Given the description of an element on the screen output the (x, y) to click on. 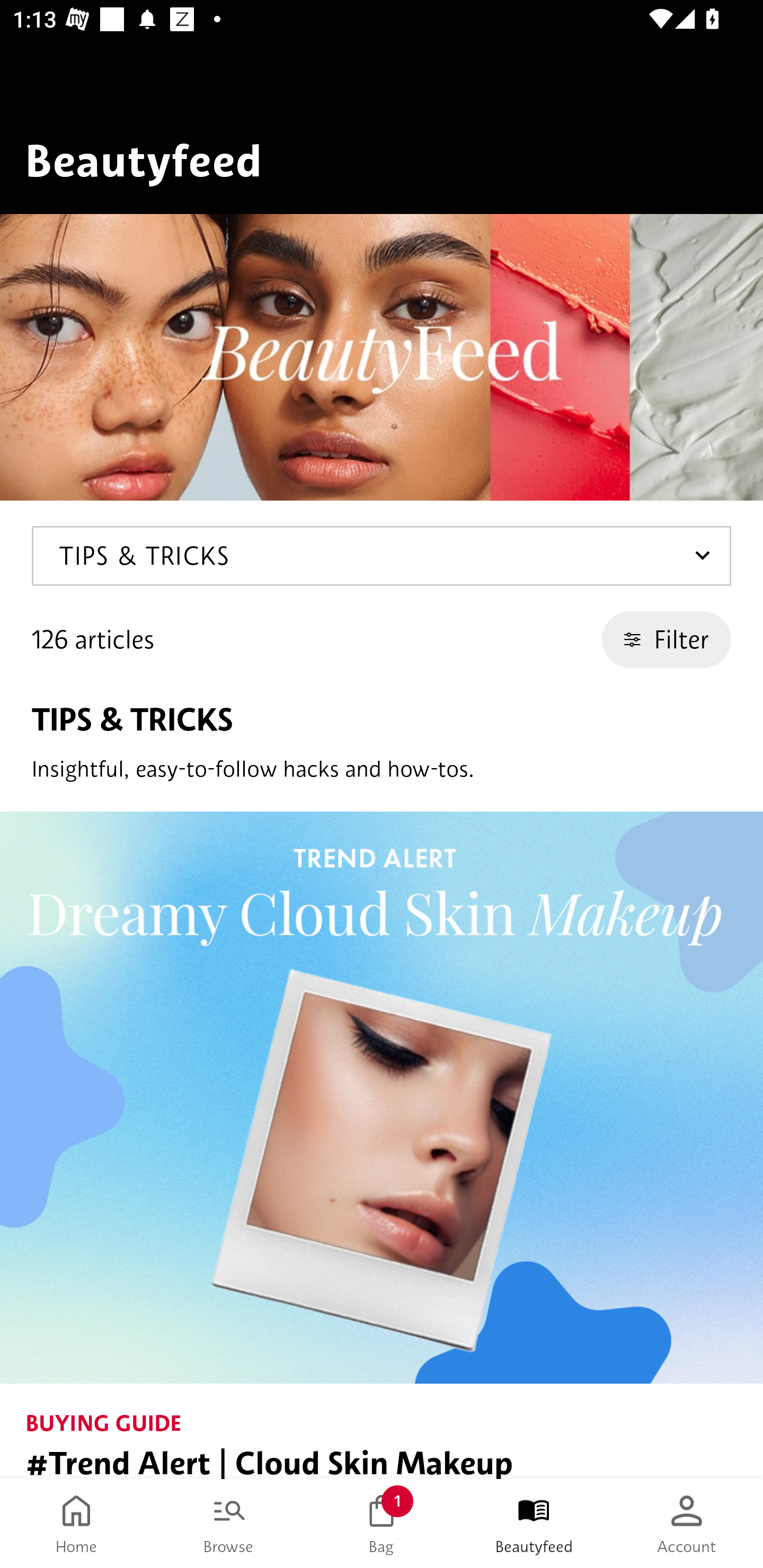
TIPS & TRICKS (381, 555)
Filter (666, 639)
BUYING GUIDE #Trend Alert | Cloud Skin Makeup (381, 1145)
Home (76, 1523)
Browse (228, 1523)
Bag 1 Bag (381, 1523)
Account (686, 1523)
